Given the description of an element on the screen output the (x, y) to click on. 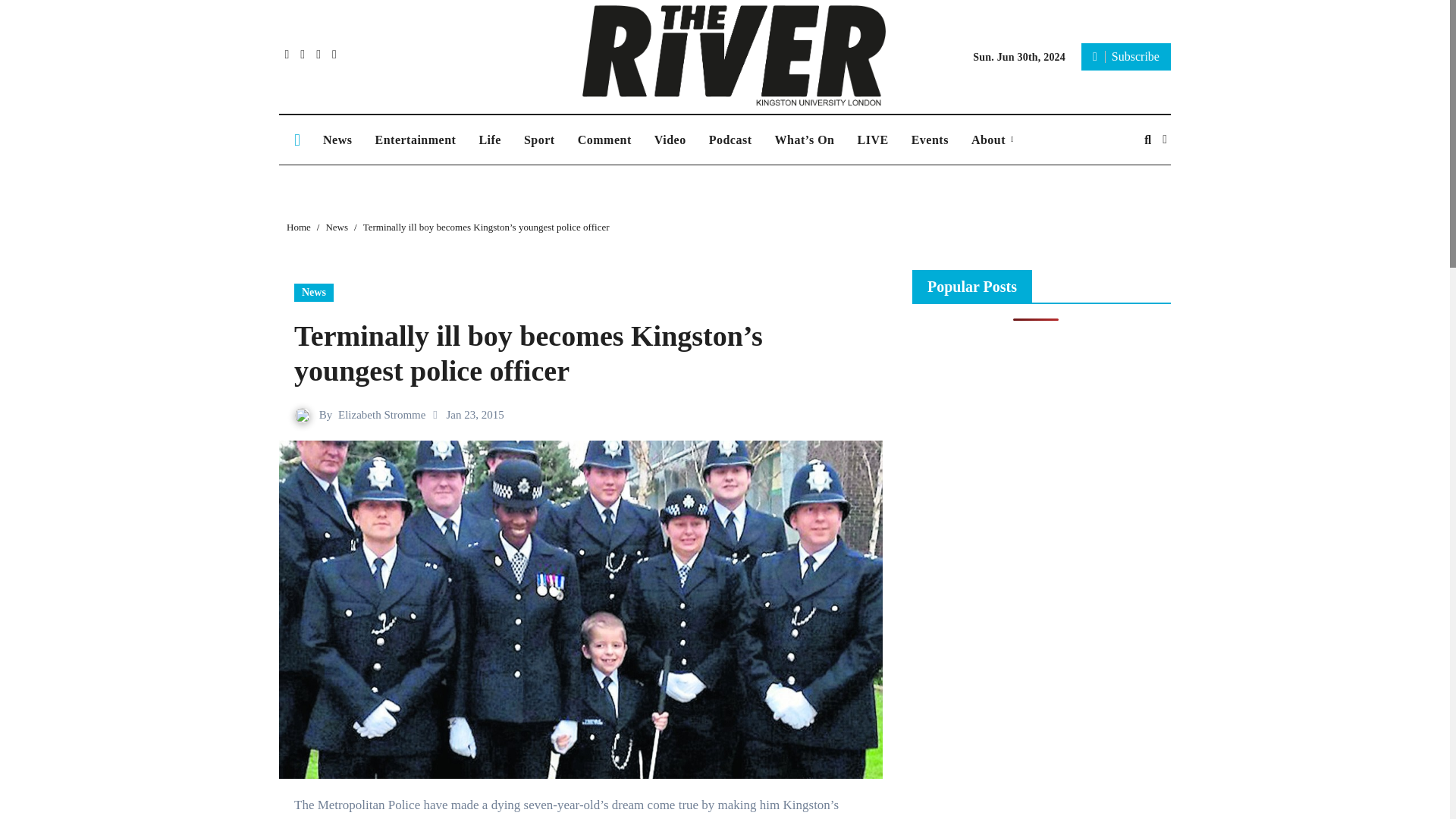
What's On (803, 139)
Subscribe (1125, 56)
Sport (539, 139)
News (335, 226)
Video (670, 139)
News (336, 139)
Podcast (729, 139)
Events (929, 139)
Entertainment (414, 139)
News (313, 292)
About (992, 139)
About (992, 139)
Comment (604, 139)
News (336, 139)
Entertainment (414, 139)
